Given the description of an element on the screen output the (x, y) to click on. 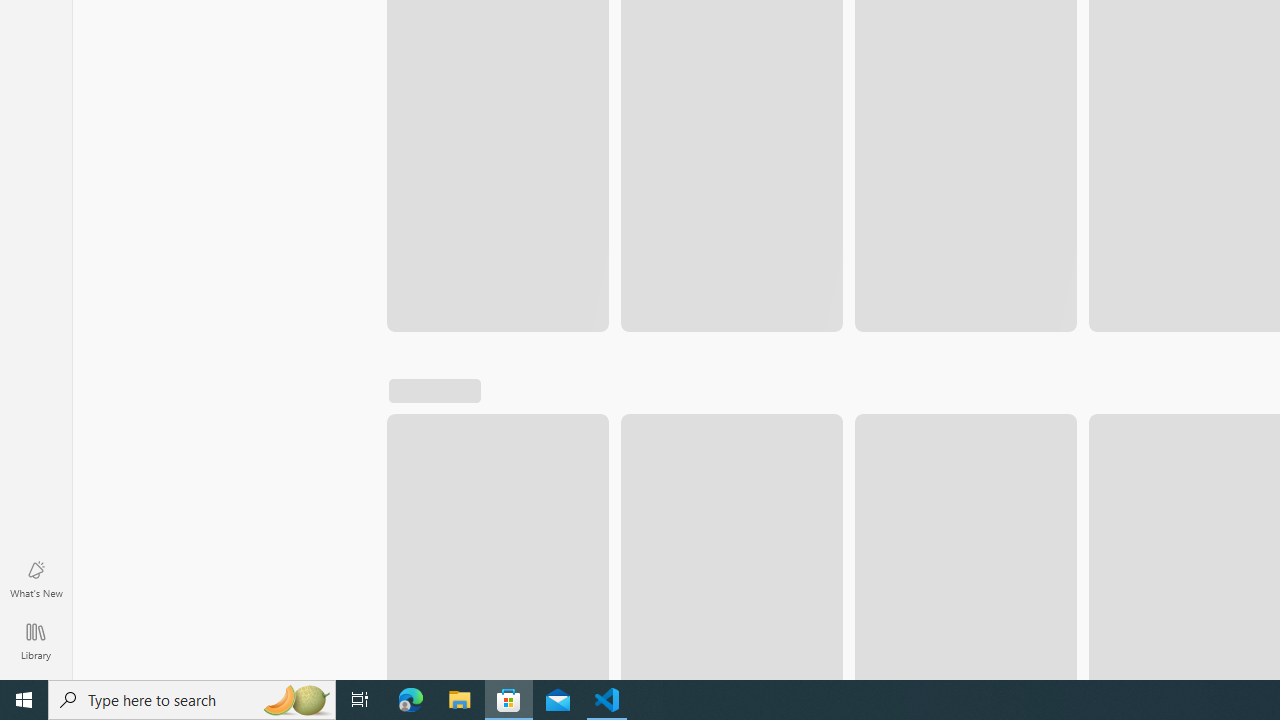
See all  Best of Game Pass (866, 455)
Library (35, 640)
Available with Game Pass. VALORANT (566, 580)
What's New (35, 578)
